Given the description of an element on the screen output the (x, y) to click on. 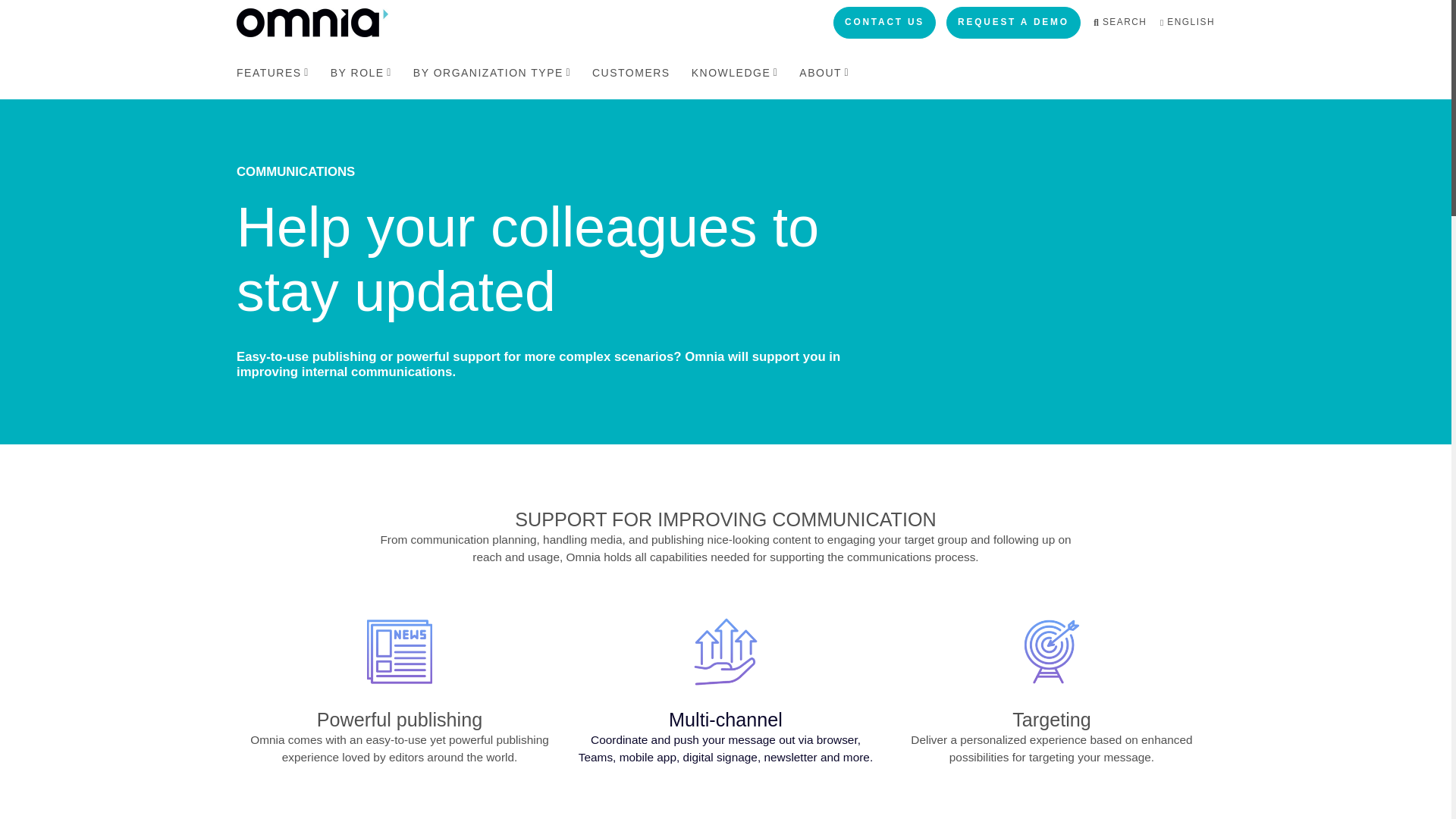
REQUEST A DEMO (1013, 22)
CUSTOMERS (630, 72)
SEARCH (1118, 22)
CONTACT US (884, 22)
